Given the description of an element on the screen output the (x, y) to click on. 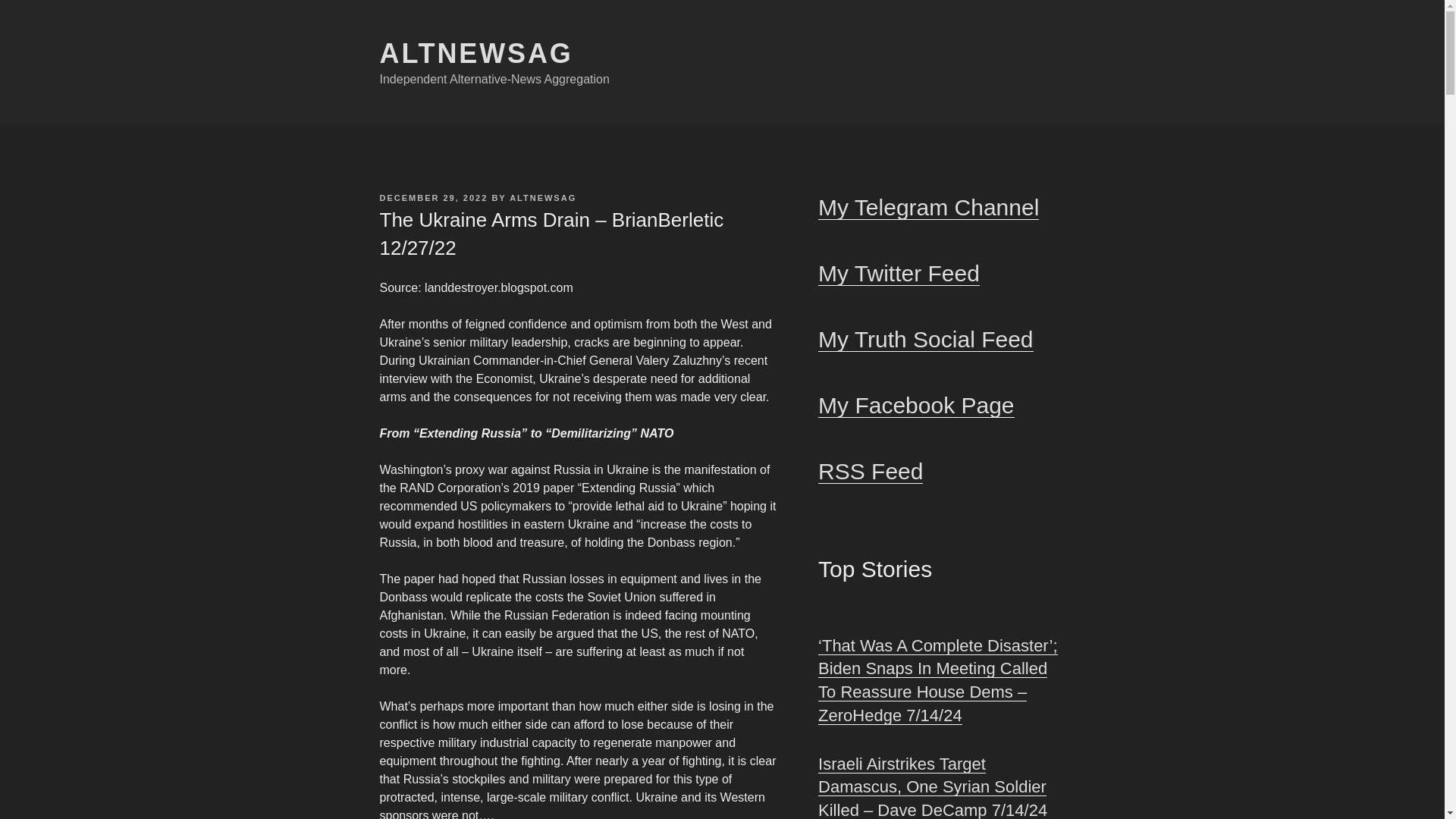
My Truth Social Feed (925, 339)
ALTNEWSAG (475, 52)
My Telegram Channel (928, 207)
ALTNEWSAG (542, 197)
My Facebook Page (915, 405)
My Twitter Feed (898, 273)
RSS Feed (870, 471)
DECEMBER 29, 2022 (432, 197)
